Given the description of an element on the screen output the (x, y) to click on. 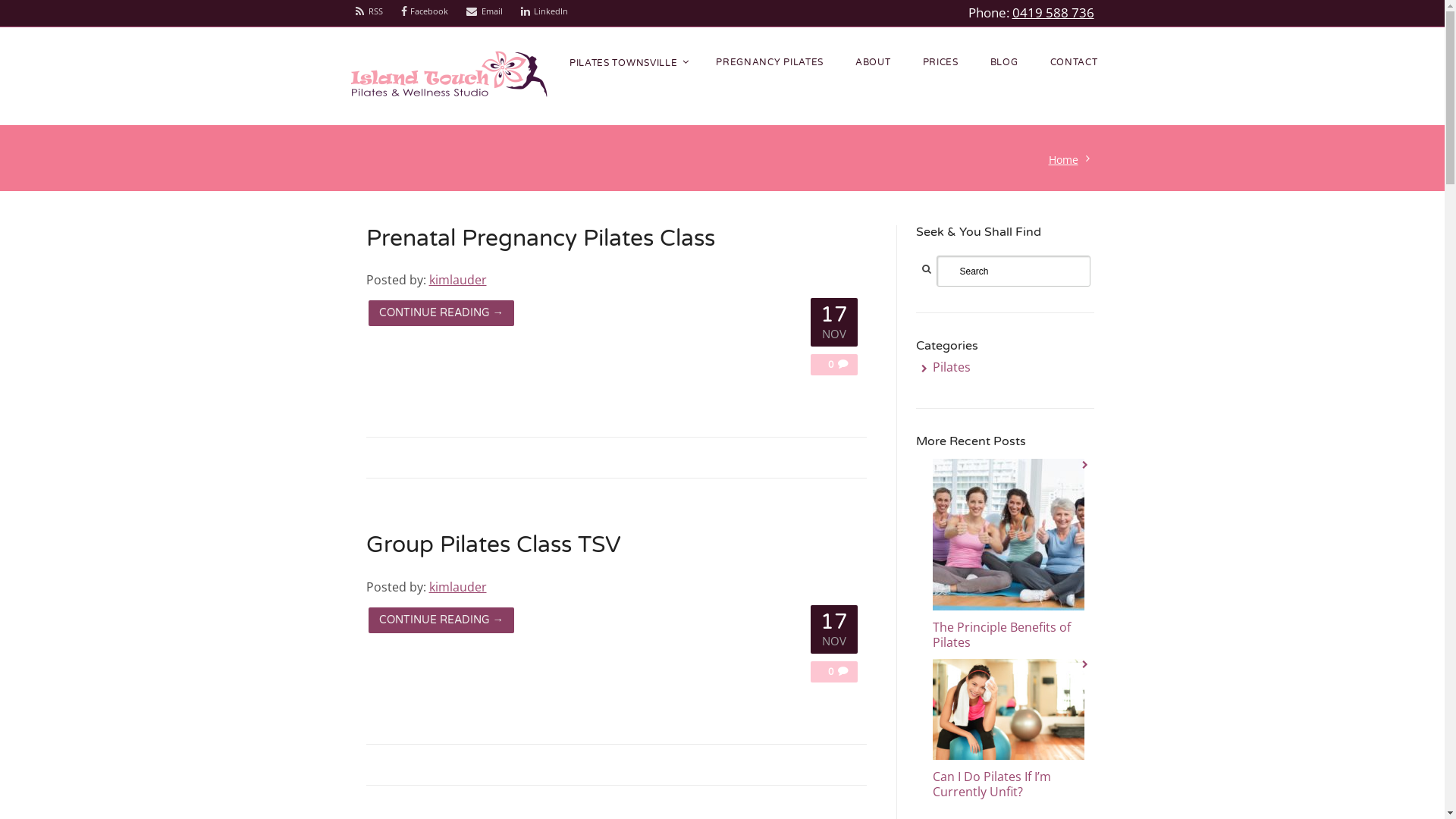
PREGNANCY PILATES Element type: text (769, 62)
Group Pilates Class TSV Element type: text (492, 544)
Pilates Element type: text (951, 366)
0 Element type: text (826, 362)
LinkedIn Element type: text (543, 10)
Prenatal Pregnancy Pilates Class Element type: text (539, 238)
BLOG Element type: text (1004, 62)
The Principle Benefits of Pilates Element type: text (1001, 634)
kimlauder Element type: text (457, 279)
ABOUT Element type: text (873, 62)
PILATES TOWNSVILLE Element type: text (626, 63)
PRICES Element type: text (940, 62)
Email Element type: text (484, 10)
CONTACT Element type: text (1074, 62)
Home Element type: text (1066, 159)
RSS Element type: text (368, 10)
0 Element type: text (826, 670)
Facebook Element type: text (424, 10)
kimlauder Element type: text (457, 586)
